Given the description of an element on the screen output the (x, y) to click on. 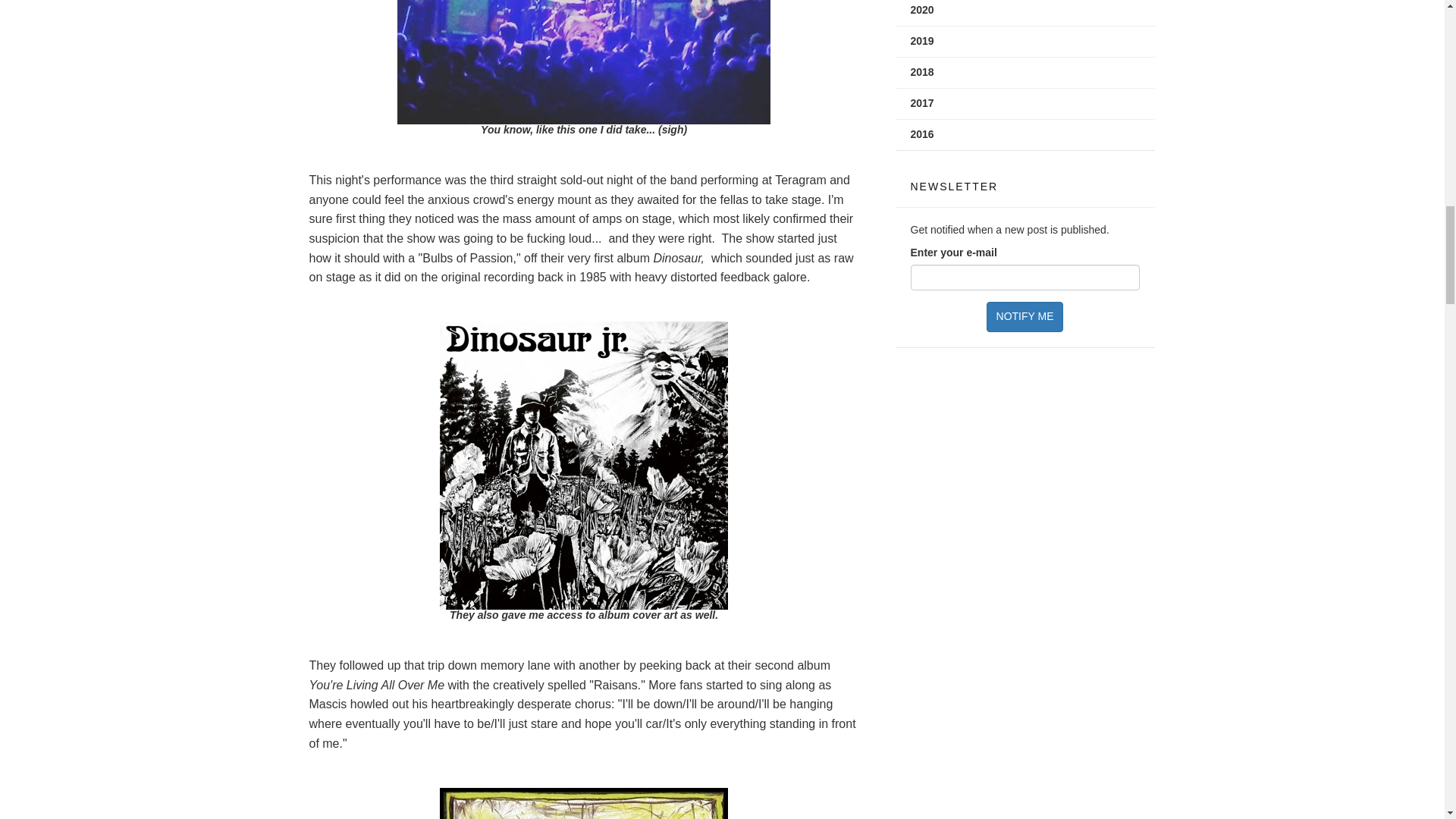
Notify me (1025, 317)
